Given the description of an element on the screen output the (x, y) to click on. 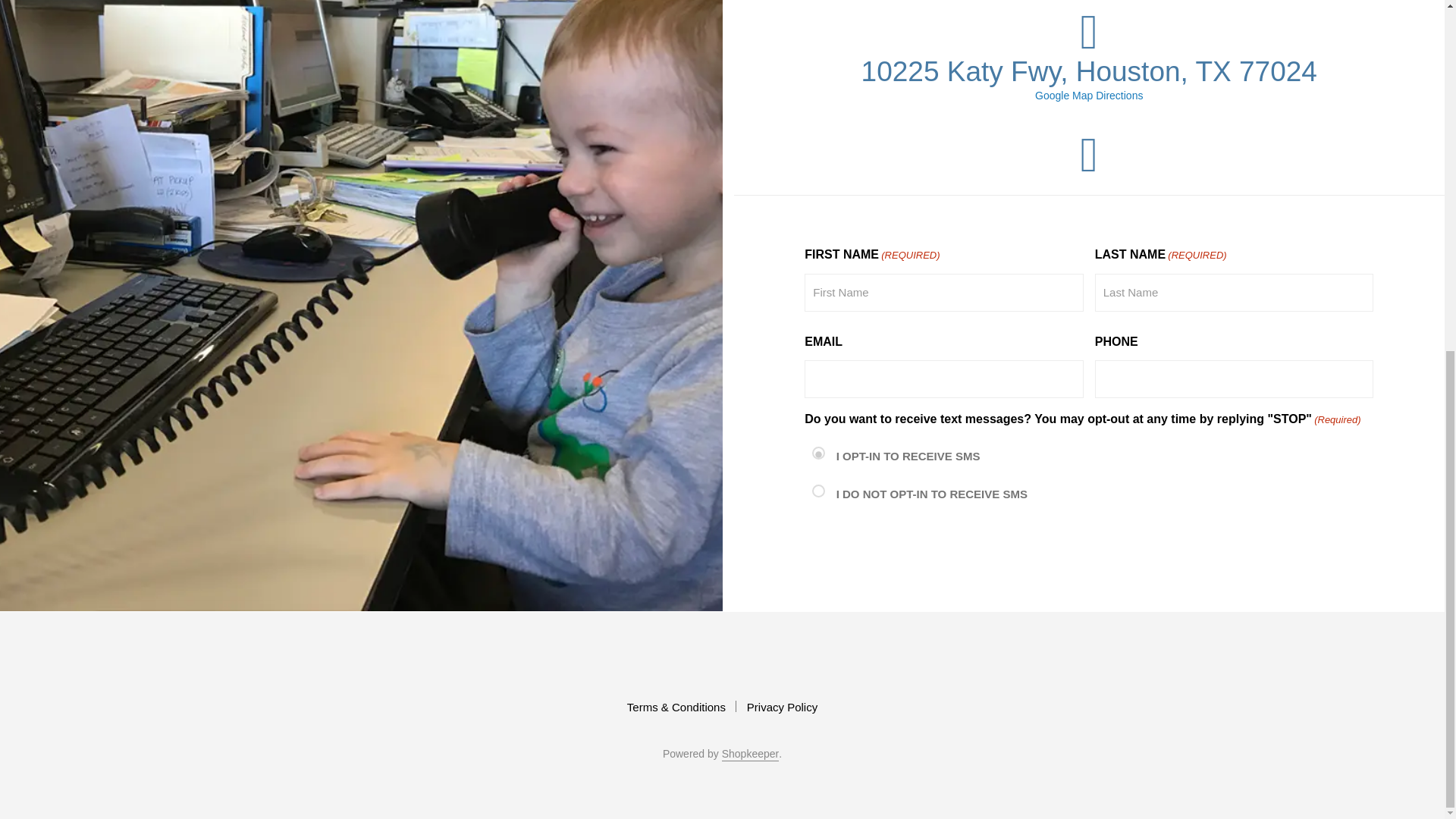
Contact Us (1089, 547)
eCommerce WordPress Theme for Woocommerce (750, 754)
